Given the description of an element on the screen output the (x, y) to click on. 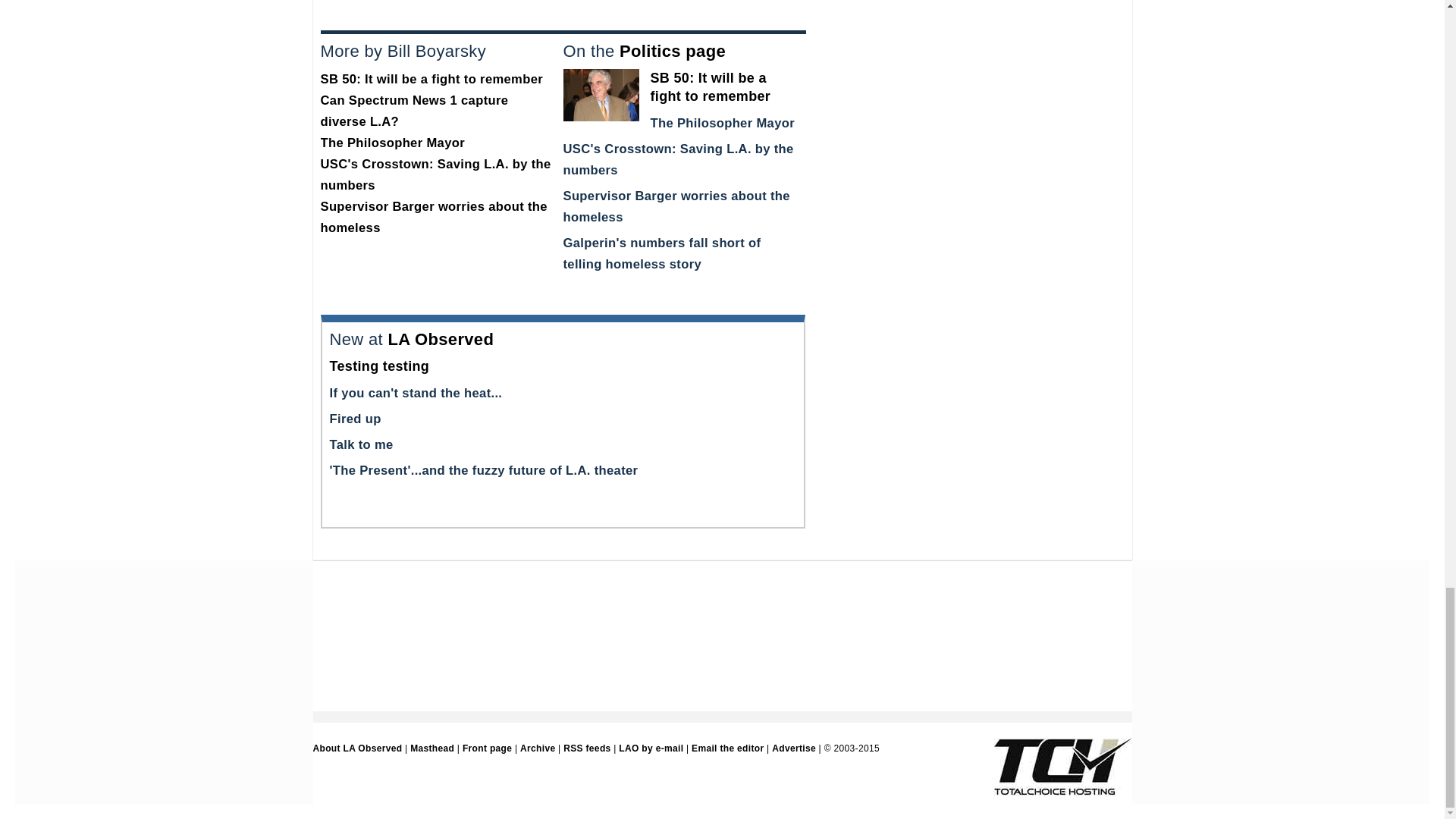
Supervisor Barger worries about the homeless (433, 217)
SB 50: It will be a fight to remember (431, 79)
About LA Observed (357, 747)
Advertise (793, 747)
Fired up (354, 418)
LAO by e-mail (650, 747)
The Philosopher Mayor (392, 142)
Masthead (432, 747)
The Philosopher Mayor (722, 123)
Testing testing (379, 365)
Archive (536, 747)
SB 50: It will be a fight to remember (710, 87)
'The Present'...and the fuzzy future of L.A. theater (483, 470)
USC's Crosstown: Saving L.A. by the numbers (435, 174)
RSS feeds (586, 747)
